Given the description of an element on the screen output the (x, y) to click on. 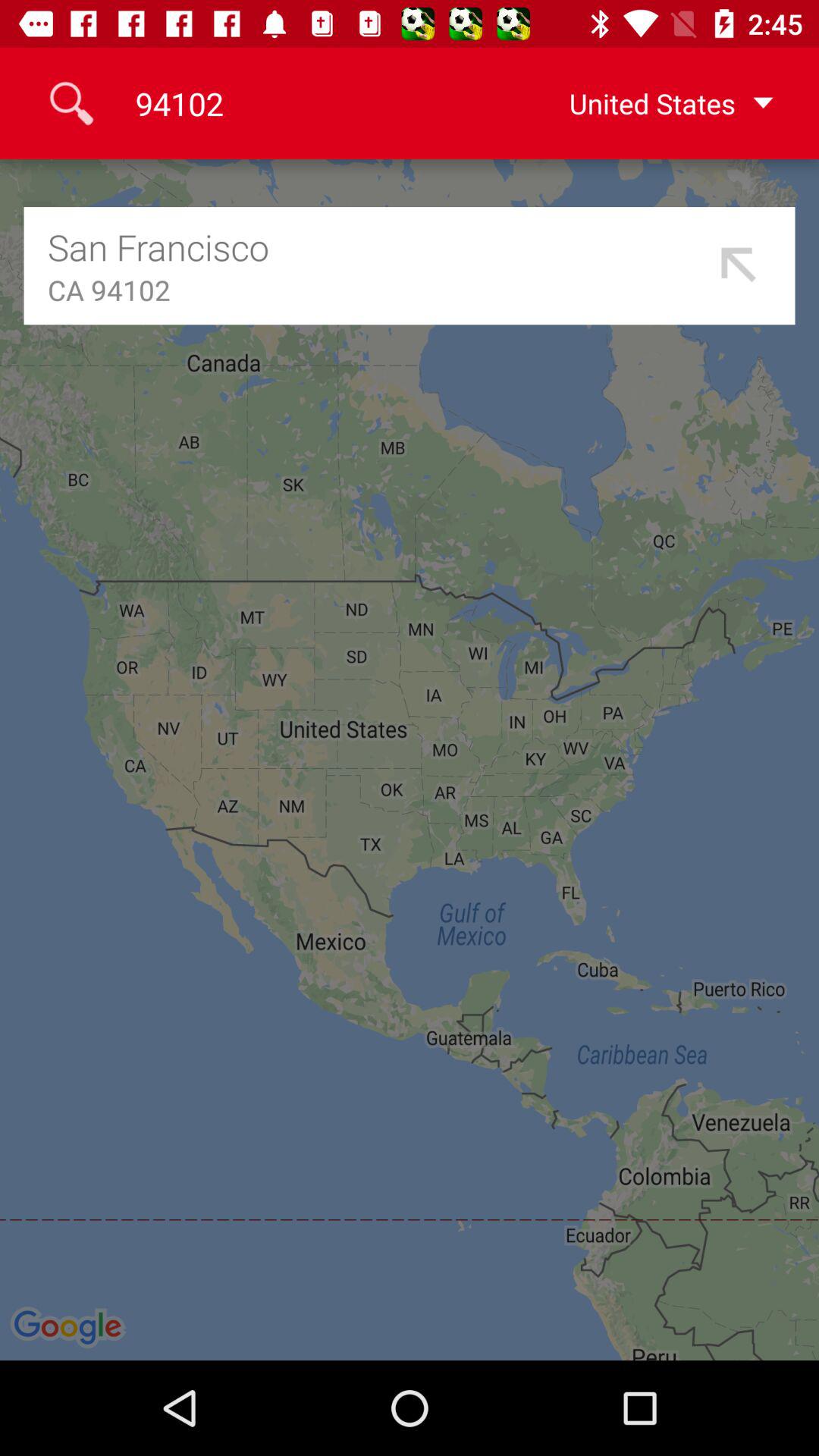
scroll to ca 94102 item (377, 289)
